Given the description of an element on the screen output the (x, y) to click on. 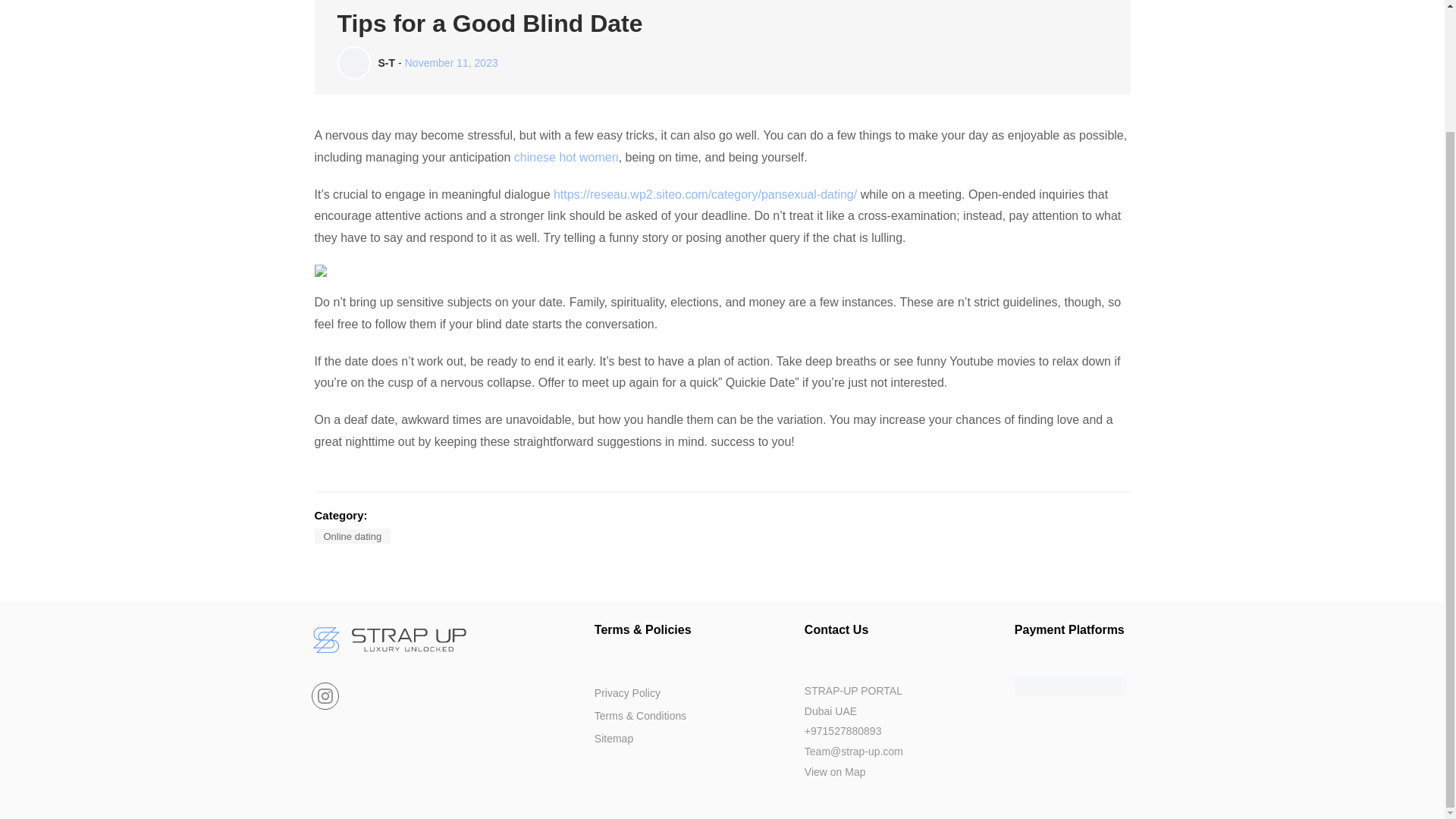
instagram (324, 696)
November 11, 2023 (450, 62)
Sitemap (613, 738)
chinese hot women (565, 156)
View on Map (835, 771)
Online dating (352, 536)
Privacy Policy (627, 693)
